Given the description of an element on the screen output the (x, y) to click on. 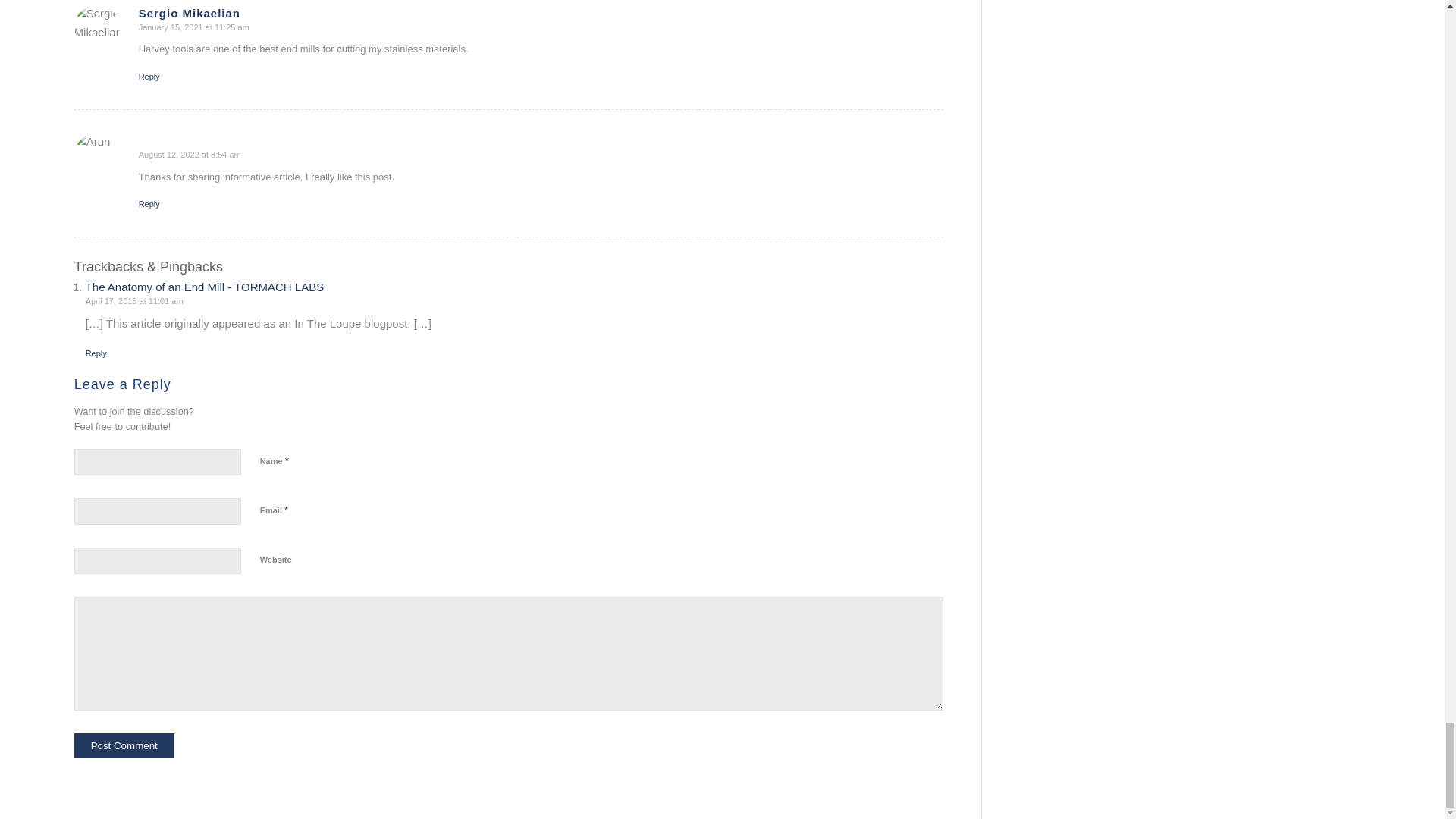
Post Comment (124, 745)
